Given the description of an element on the screen output the (x, y) to click on. 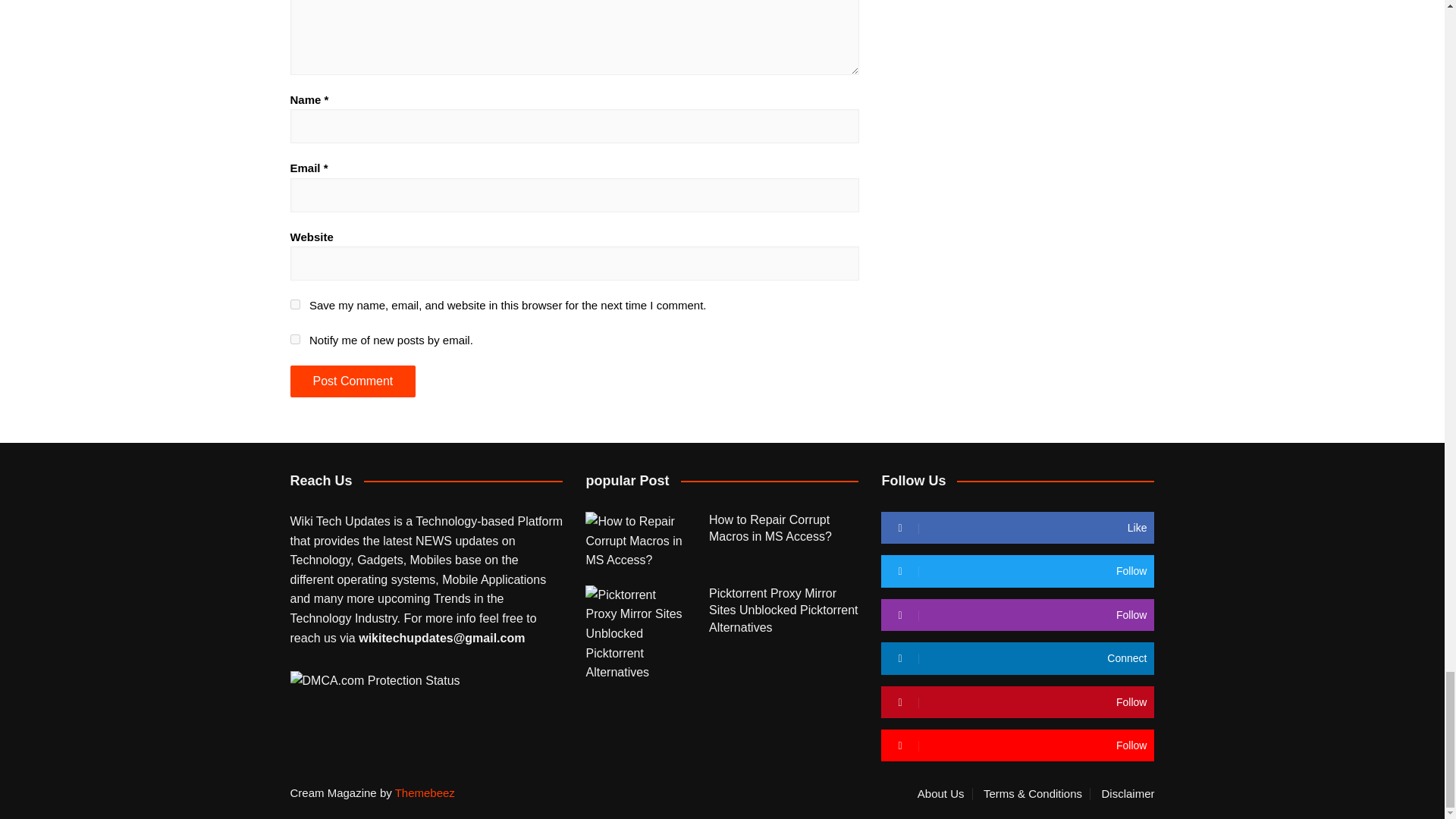
subscribe (294, 338)
DMCA.com Protection Status (374, 679)
yes (294, 304)
Post Comment (351, 380)
